Given the description of an element on the screen output the (x, y) to click on. 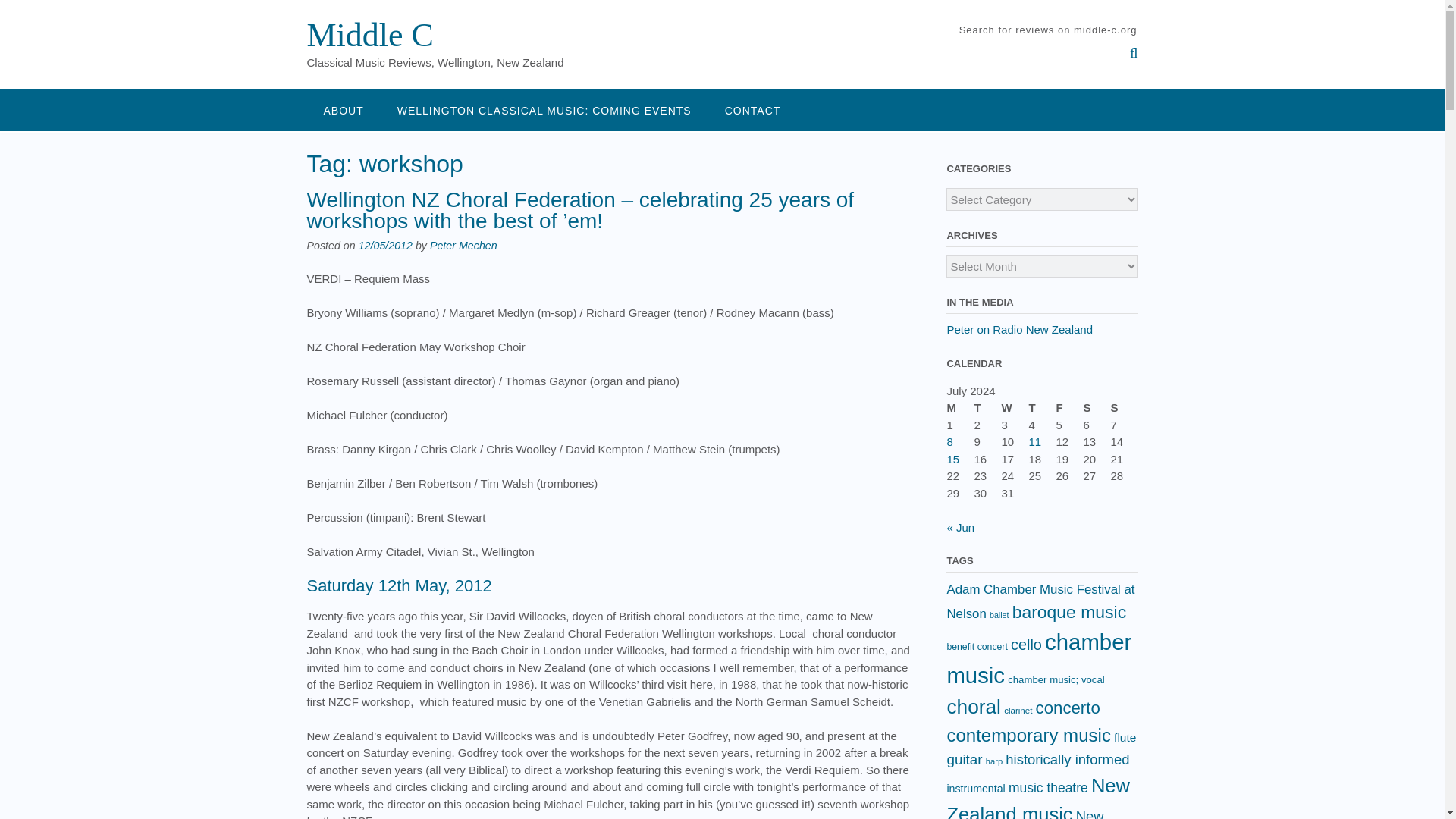
Thursday (1041, 407)
chamber music; vocal (1056, 679)
chamber music (1038, 658)
contemporary music (1028, 734)
WELLINGTON CLASSICAL MUSIC: COMING EVENTS (543, 109)
concerto (1067, 707)
CONTACT (752, 109)
Monday (960, 407)
Adam Chamber Music Festival at Nelson (1040, 601)
Middle C (368, 35)
Tuesday (987, 407)
Friday (1069, 407)
Peter Mechen (463, 245)
Peter on Radio New Zealand (1019, 328)
baroque music (1068, 611)
